Given the description of an element on the screen output the (x, y) to click on. 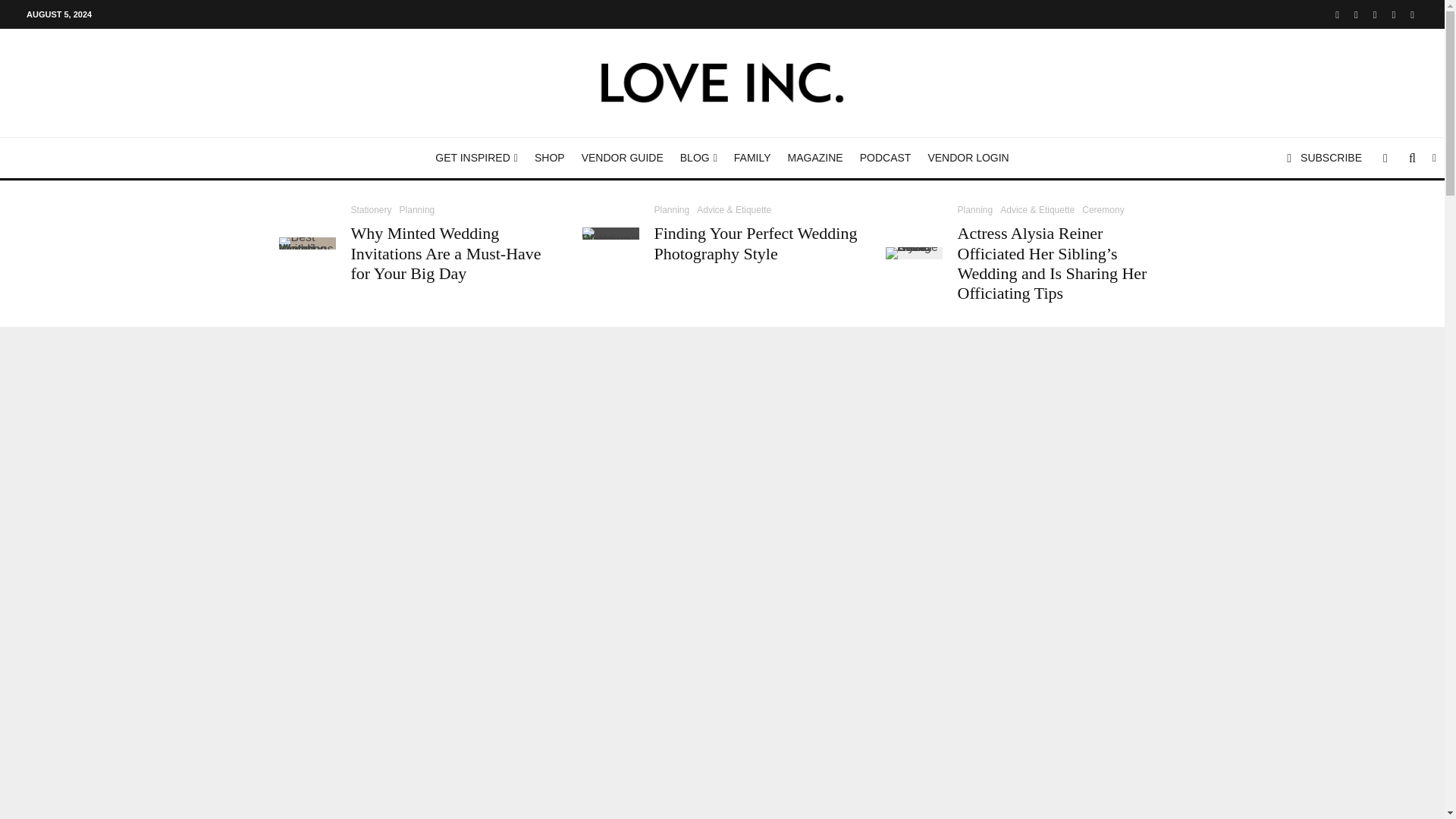
BLOG (698, 158)
FAMILY (751, 158)
SHOP (549, 158)
Best Wedding Invitations Minted (307, 243)
GET INSPIRED (475, 158)
VENDOR GUIDE (622, 158)
SUBSCRIBE (1324, 158)
Wedding Photography Styles (610, 233)
Alysia Reiner Orange is the New Black (913, 253)
PODCAST (885, 158)
MAGAZINE (814, 158)
VENDOR LOGIN (967, 158)
